Given the description of an element on the screen output the (x, y) to click on. 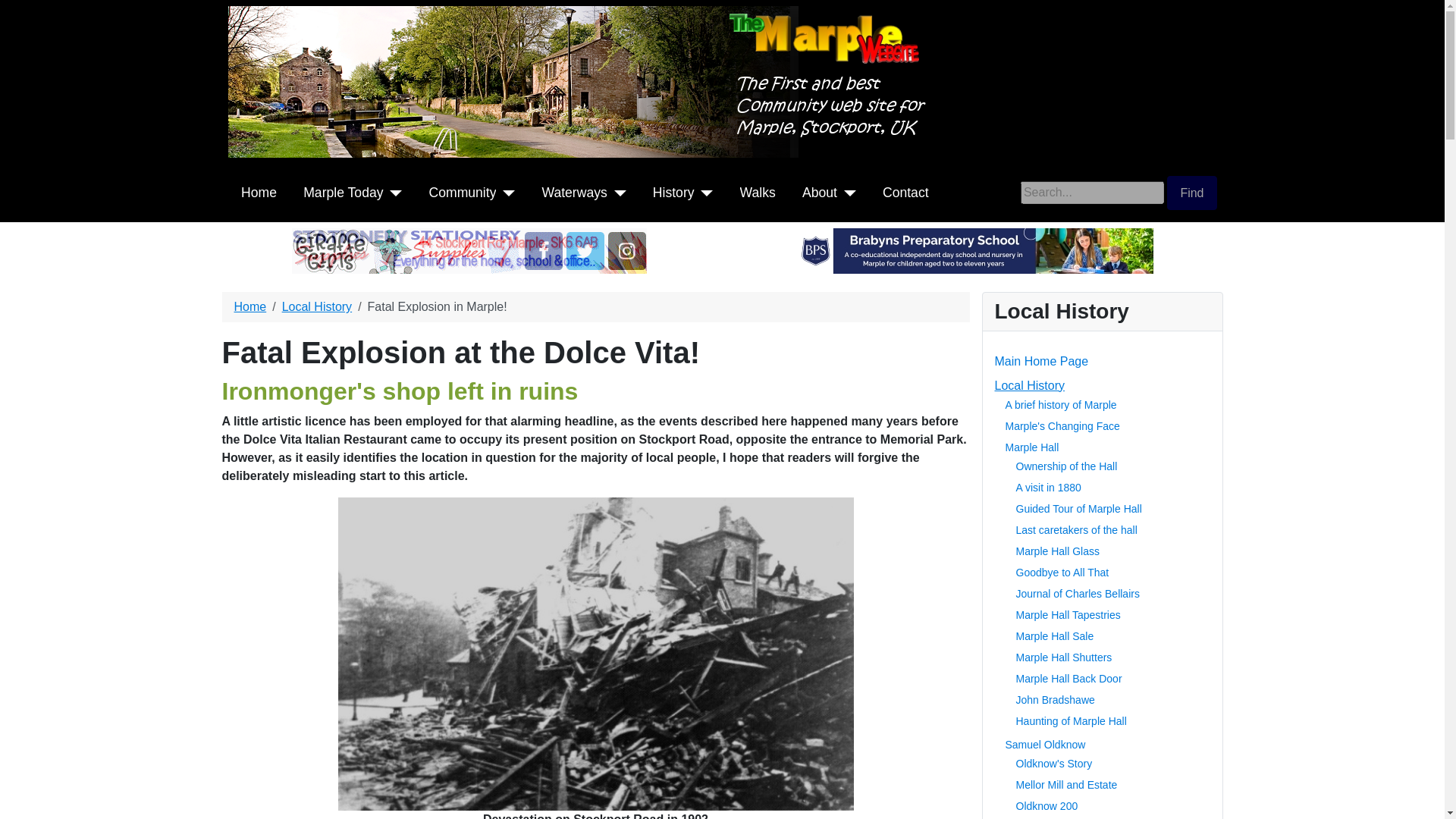
Waterways (574, 192)
Community (462, 192)
Stationery Supplies (468, 249)
Marple Today (342, 192)
About (819, 192)
Home (258, 192)
Brabyns Preparatory School (975, 249)
History (673, 192)
Walks (757, 192)
